Given the description of an element on the screen output the (x, y) to click on. 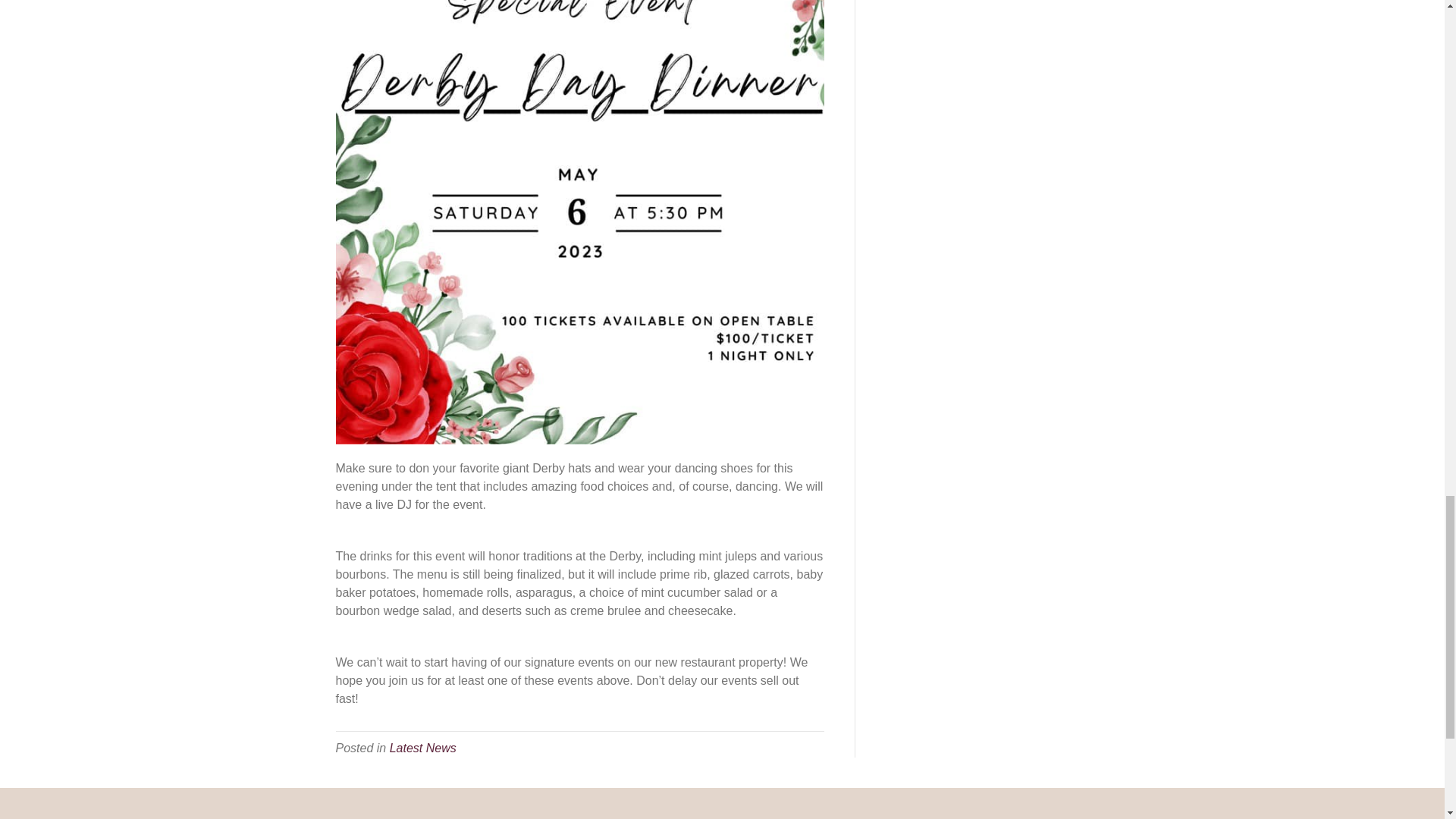
Latest News (423, 748)
